Given the description of an element on the screen output the (x, y) to click on. 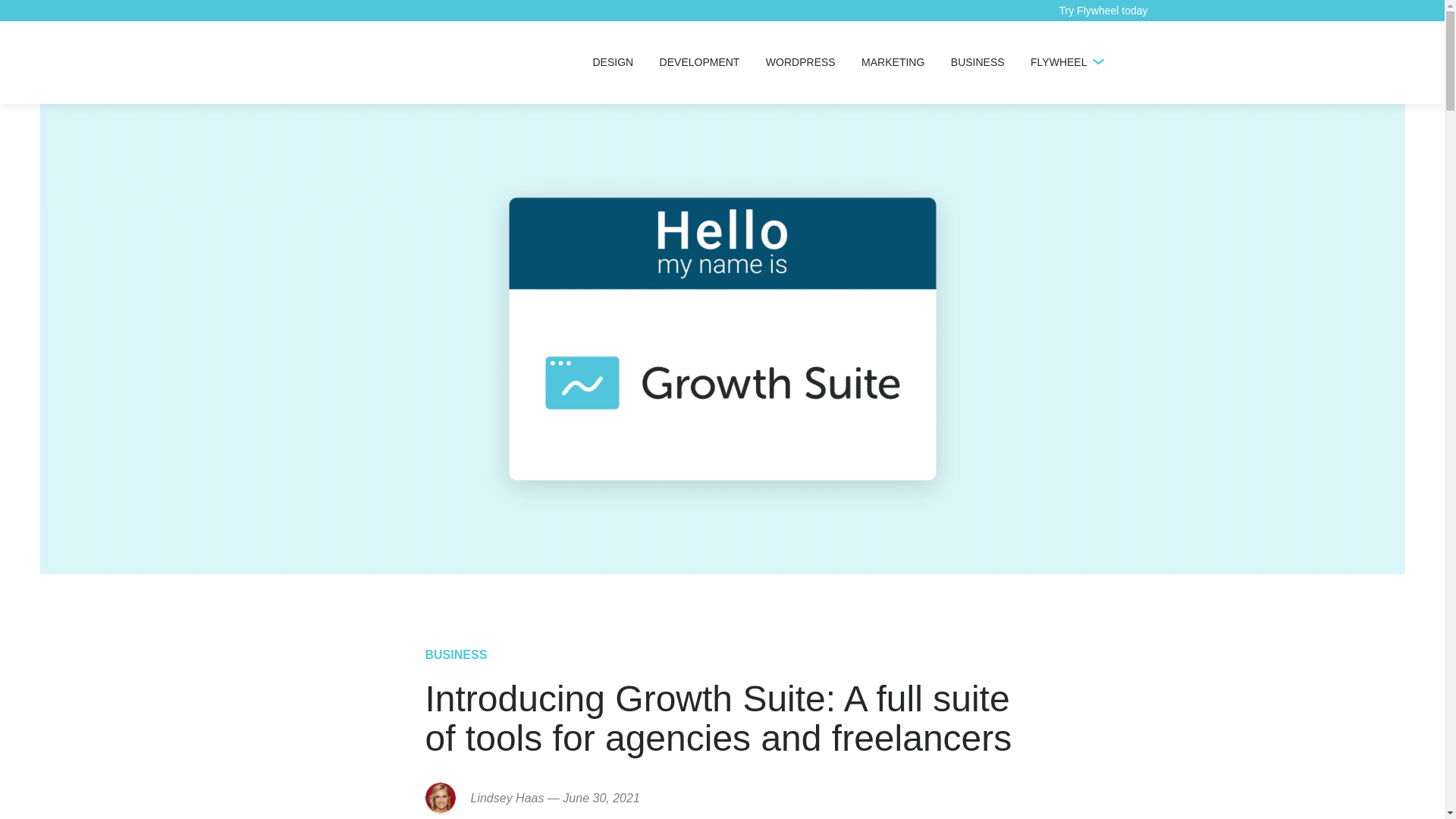
Try Flywheel today (1103, 11)
MARKETING (893, 62)
Layout (342, 62)
DEVELOPMENT (699, 62)
BUSINESS (977, 62)
WORDPRESS (800, 62)
